Given the description of an element on the screen output the (x, y) to click on. 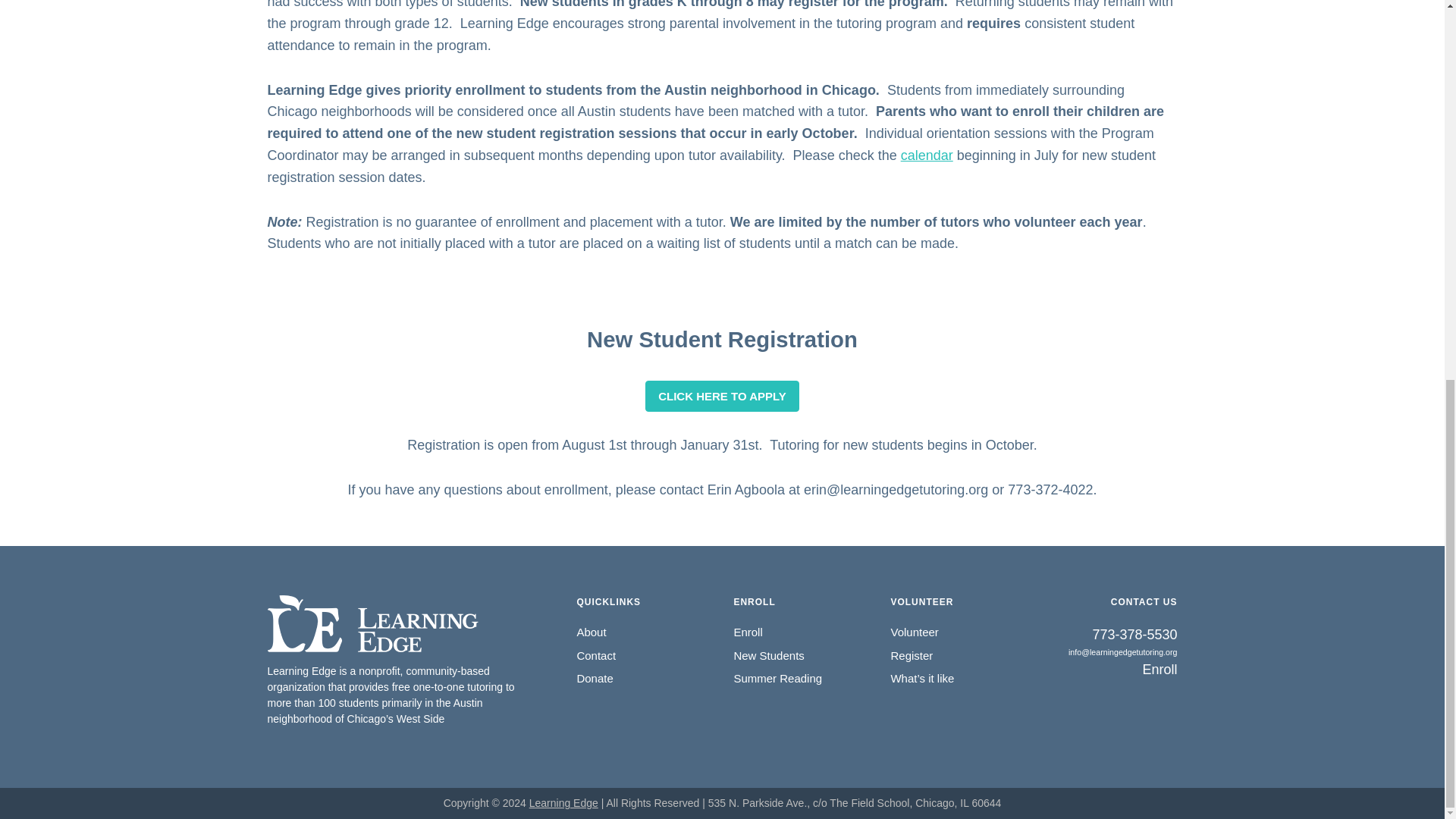
Cluster Tutoring (563, 802)
Enroll (1111, 669)
Learning Edge (563, 802)
Contact (595, 655)
Volunteer (913, 631)
New Students (768, 655)
calendar (927, 155)
CLICK HERE TO APPLY (722, 395)
Register (911, 655)
Donate (594, 677)
